Given the description of an element on the screen output the (x, y) to click on. 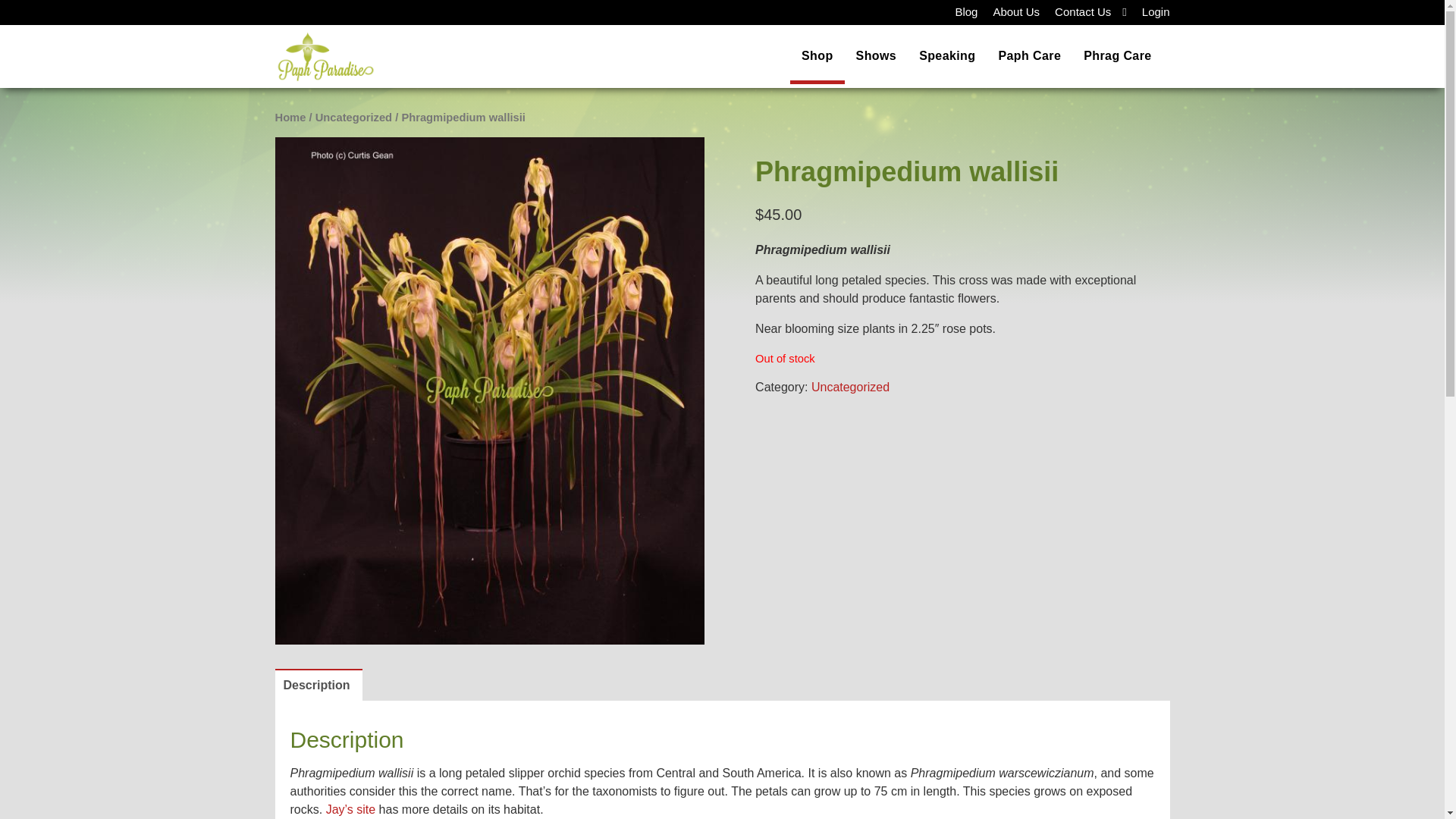
Speaking (947, 55)
Paph Paradise (314, 55)
Contact Us (1082, 12)
Paph Care (1029, 55)
Phrag Care (1116, 55)
Blog (965, 12)
Shop (817, 55)
Home (290, 117)
Description (316, 685)
Shows (876, 55)
Uncategorized (849, 386)
Login (1155, 12)
About Us (1015, 12)
Uncategorized (353, 117)
